Given the description of an element on the screen output the (x, y) to click on. 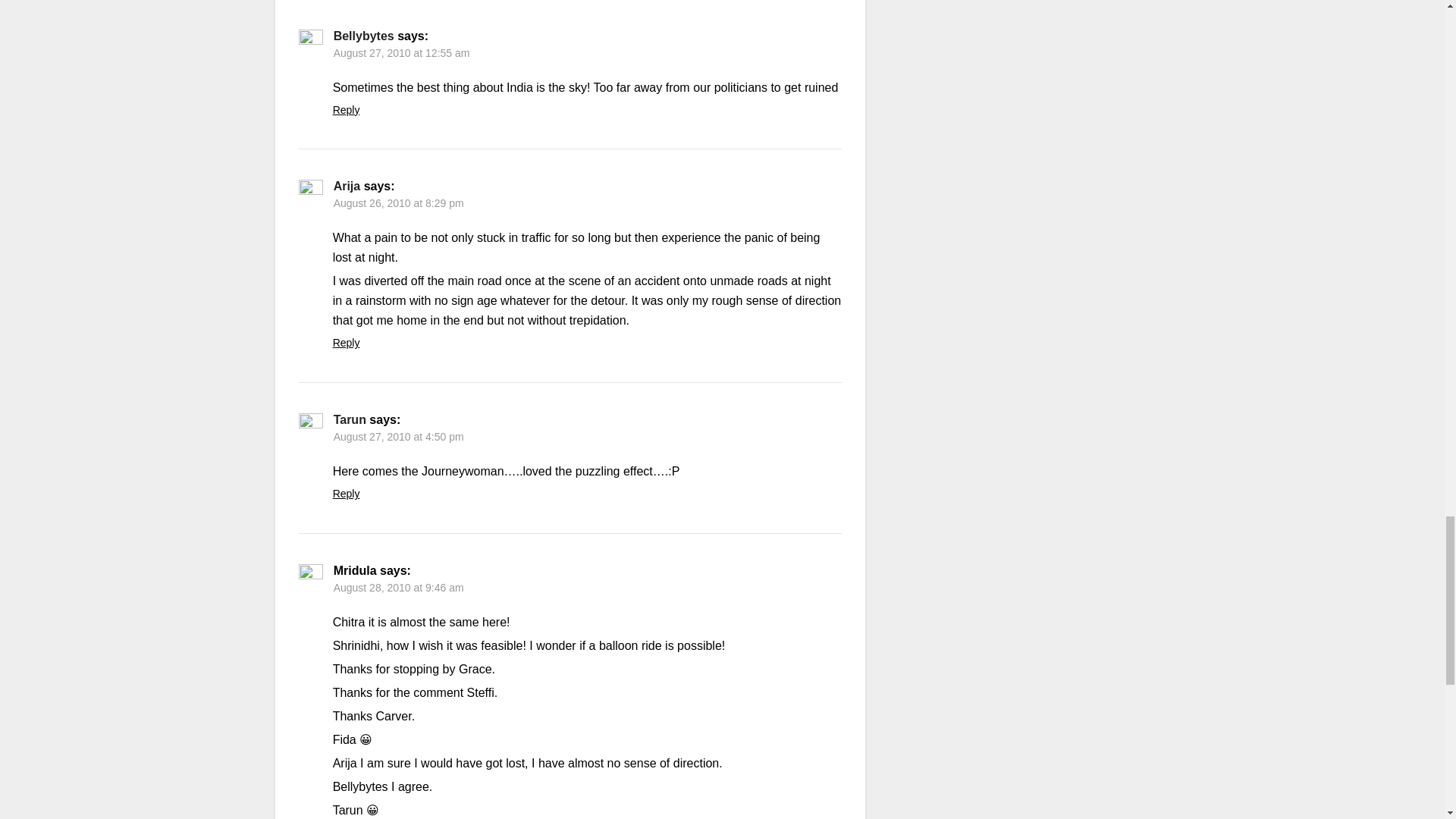
Reply (346, 342)
Tarun (349, 419)
Bellybytes (363, 35)
Arija (347, 185)
Reply (346, 493)
August 26, 2010 at 8:29 pm (398, 203)
August 28, 2010 at 9:46 am (398, 587)
August 27, 2010 at 12:55 am (401, 52)
August 27, 2010 at 4:50 pm (398, 436)
Reply (346, 110)
